Given the description of an element on the screen output the (x, y) to click on. 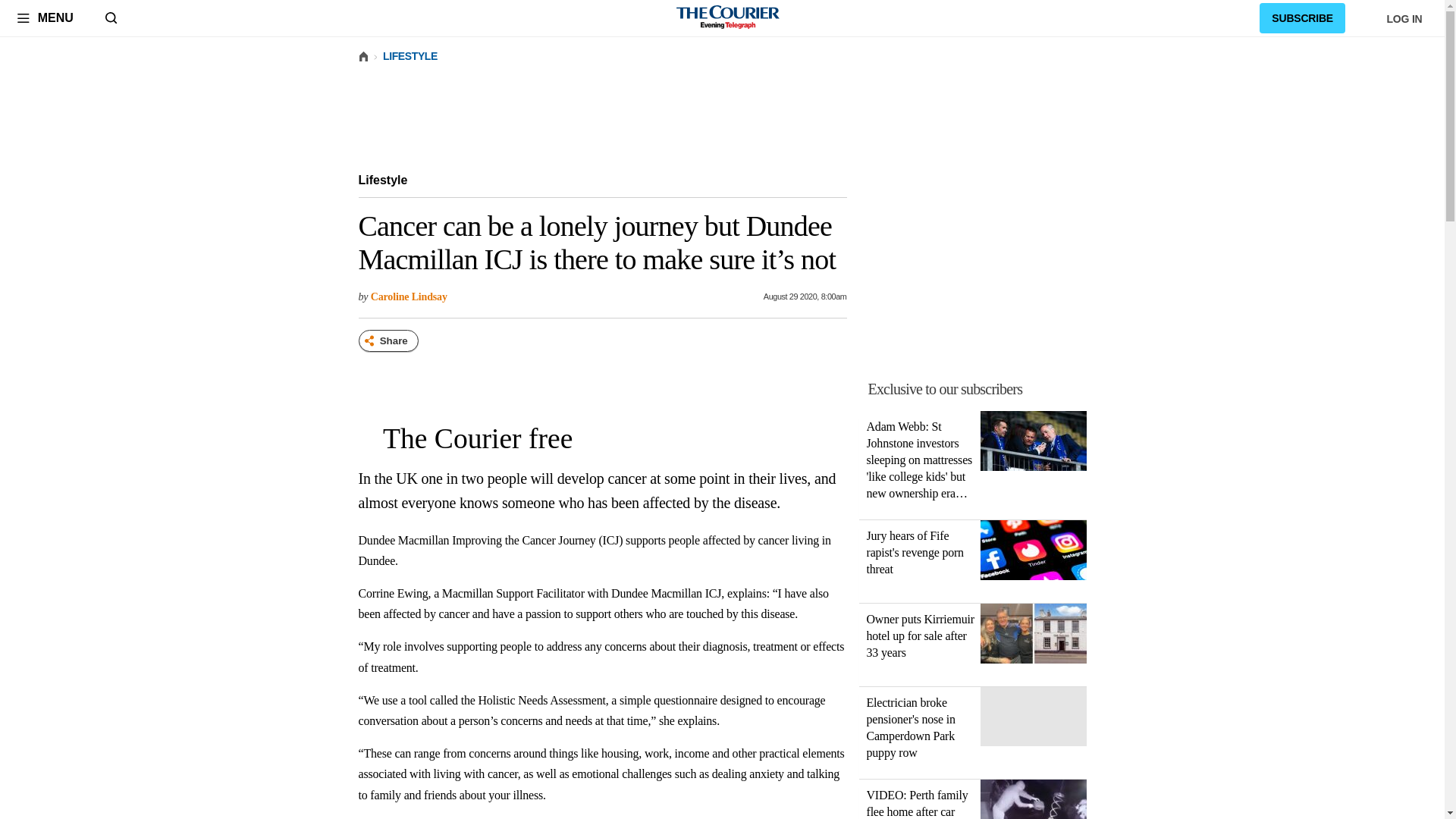
Owner puts Kirriemuir hotel up for sale after 33 years (920, 635)
Exclusive to our subscribers (944, 389)
MENU (44, 17)
Jury hears of Fife rapist's revenge porn threat (1032, 553)
Jury hears of Fife rapist's revenge porn threat (914, 552)
